Given the description of an element on the screen output the (x, y) to click on. 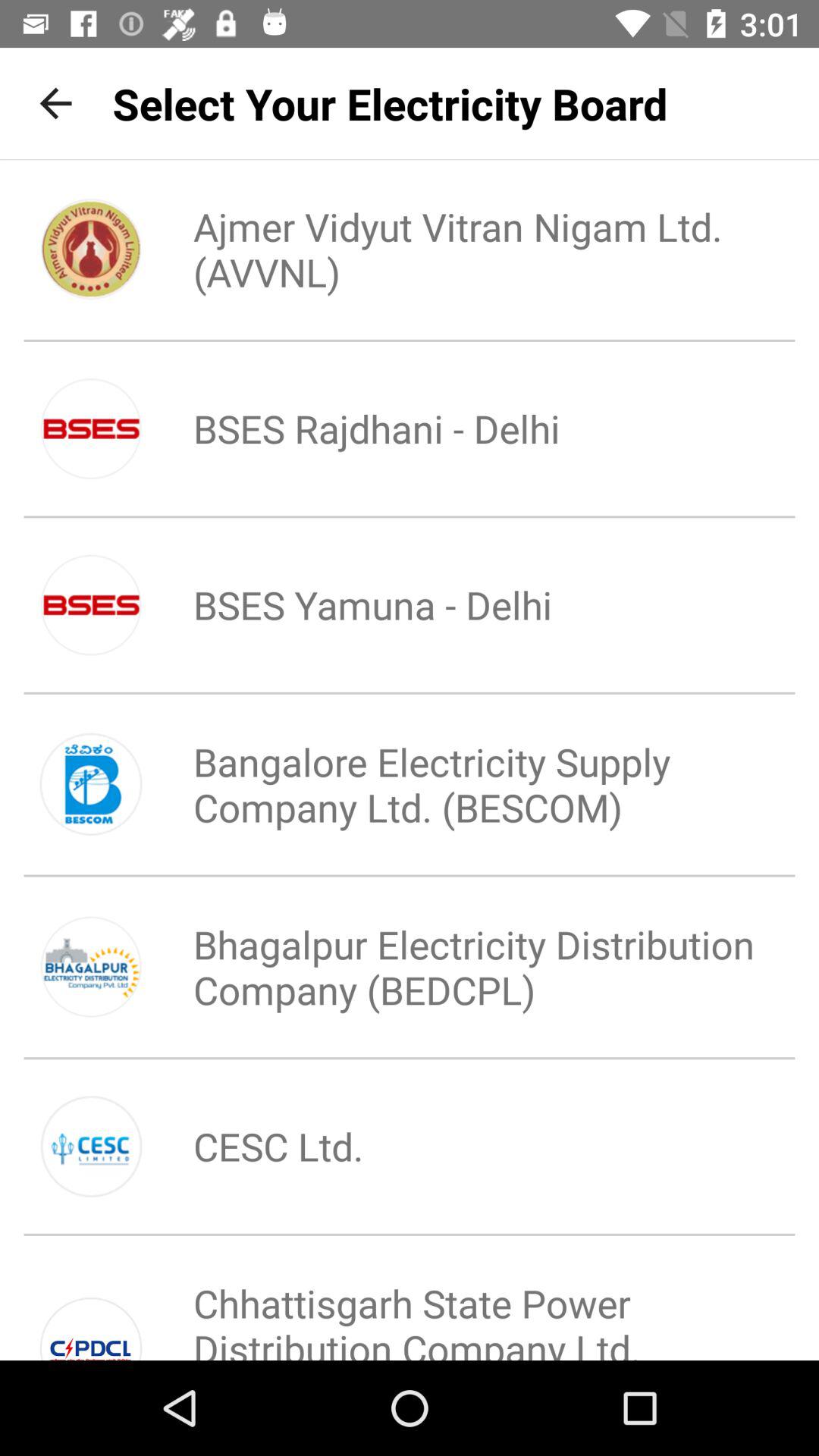
turn on ajmer vidyut vitran (460, 249)
